Given the description of an element on the screen output the (x, y) to click on. 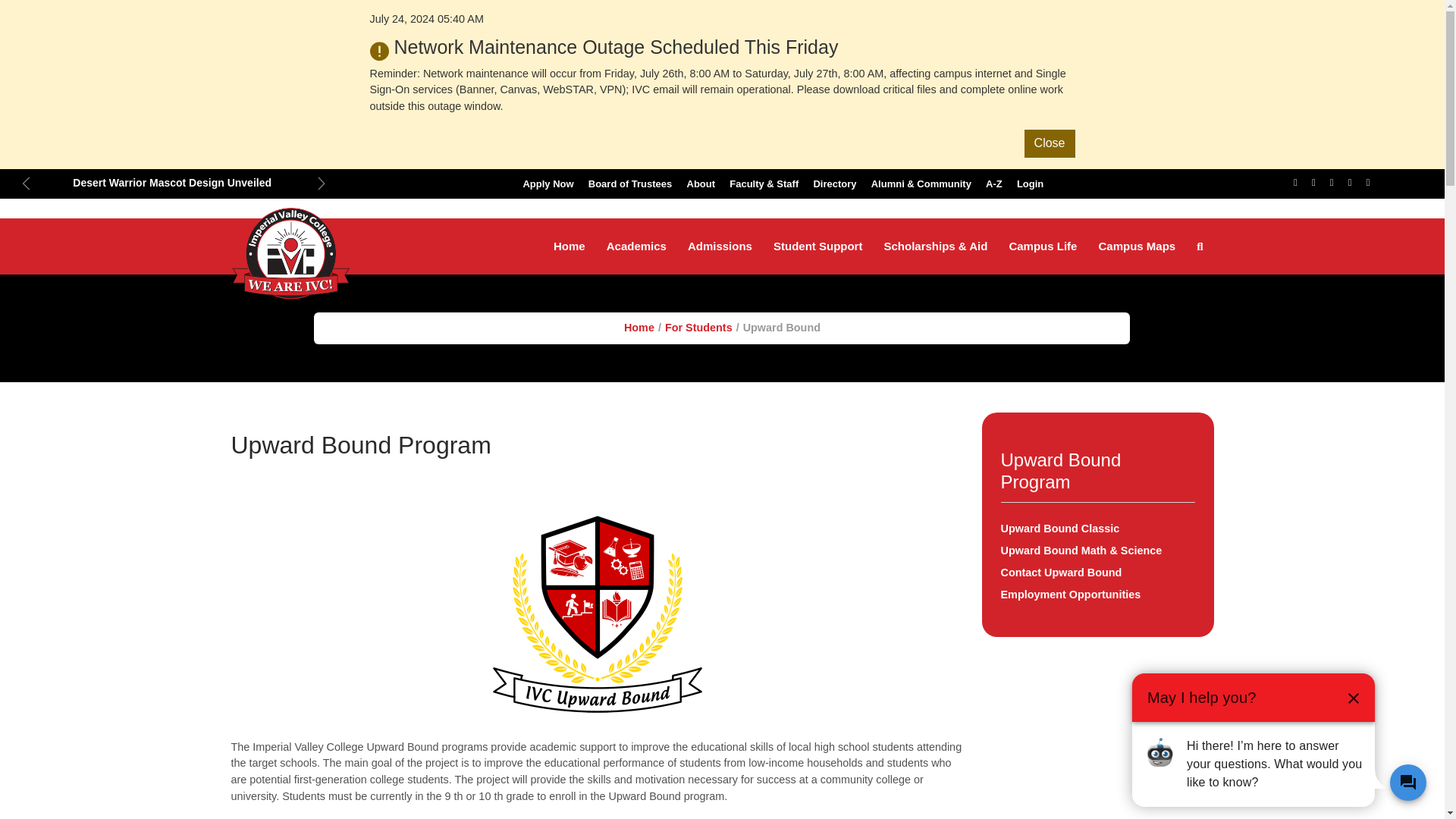
LinkedIn icon (1367, 181)
Apply Now (547, 183)
YouTube icon (1349, 181)
A-Z (993, 183)
Previous (26, 182)
Instagram icon (1331, 181)
Board of Trustees (629, 183)
Facebook icon (1294, 181)
Login (1030, 183)
Close (1050, 37)
About (700, 183)
Desert Warrior Mascot Design Unveiled  (173, 182)
Next (321, 182)
Directory (834, 183)
Twitter icon (1313, 181)
